Given the description of an element on the screen output the (x, y) to click on. 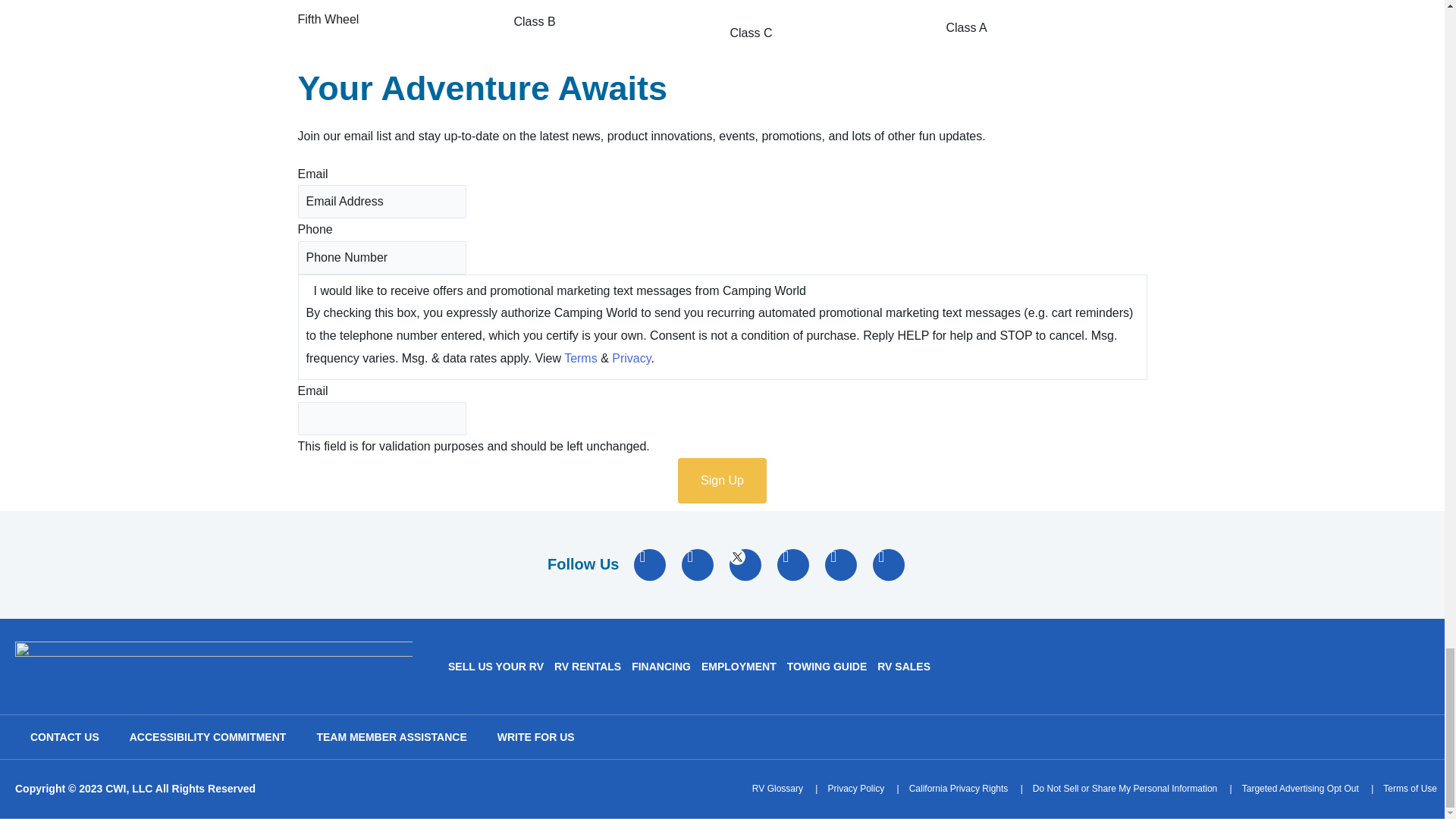
Privacy Policy (855, 788)
Targeted Advertising Opt Out (1299, 788)
Sign Up (722, 480)
Terms of Use (1410, 788)
Do Not Sell or Share My Personal Information (1124, 788)
RV Glossary (777, 788)
CA Privacy Rights (958, 788)
